Given the description of an element on the screen output the (x, y) to click on. 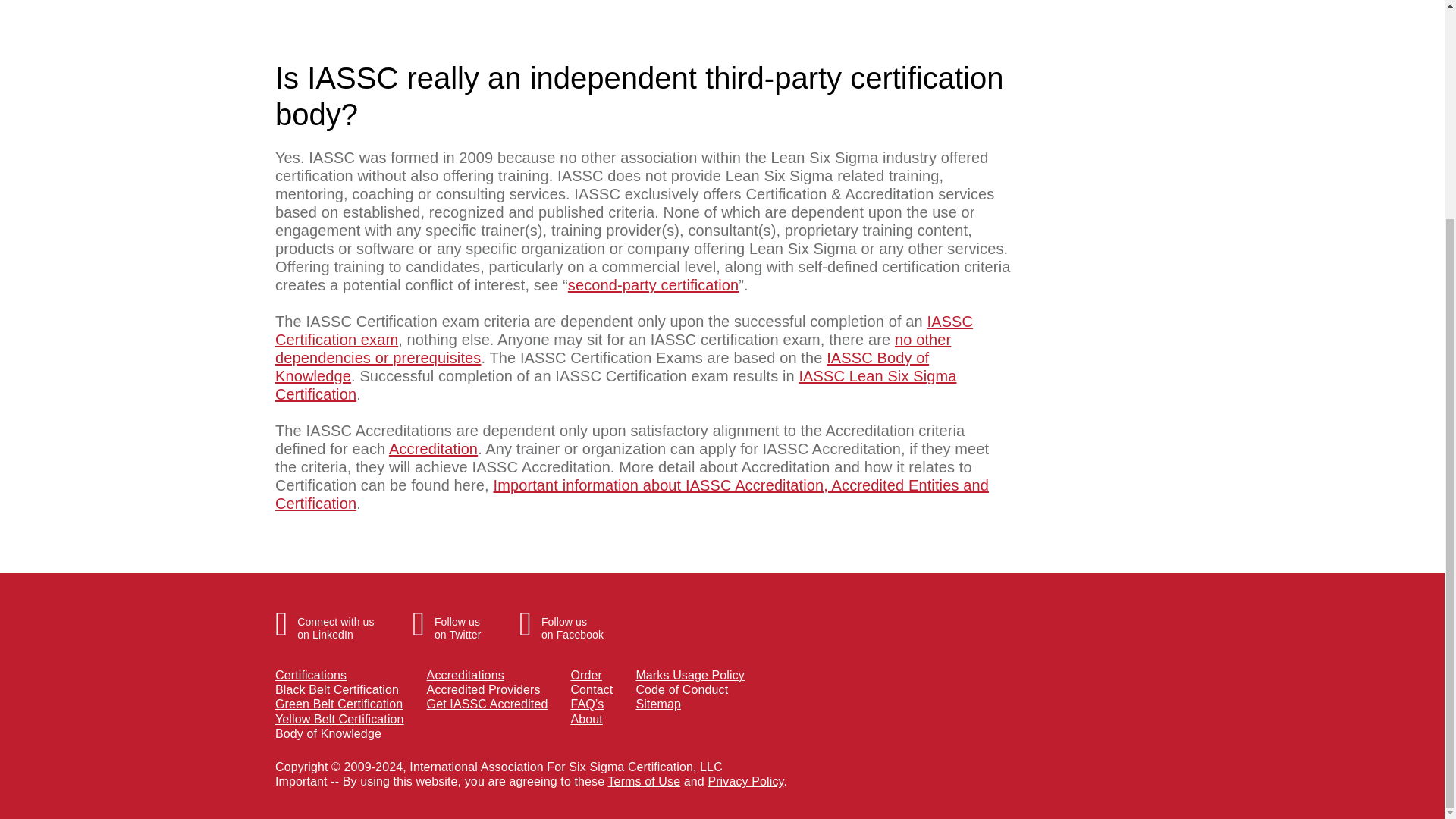
Black Belt (336, 689)
second-party certification (652, 284)
IASSC Body of Knowledge (601, 366)
Accreditation (432, 448)
no other dependencies or prerequisites (324, 620)
IASSC Certification exam (446, 620)
IASSC Lean Six Sigma Certification (612, 348)
